Given the description of an element on the screen output the (x, y) to click on. 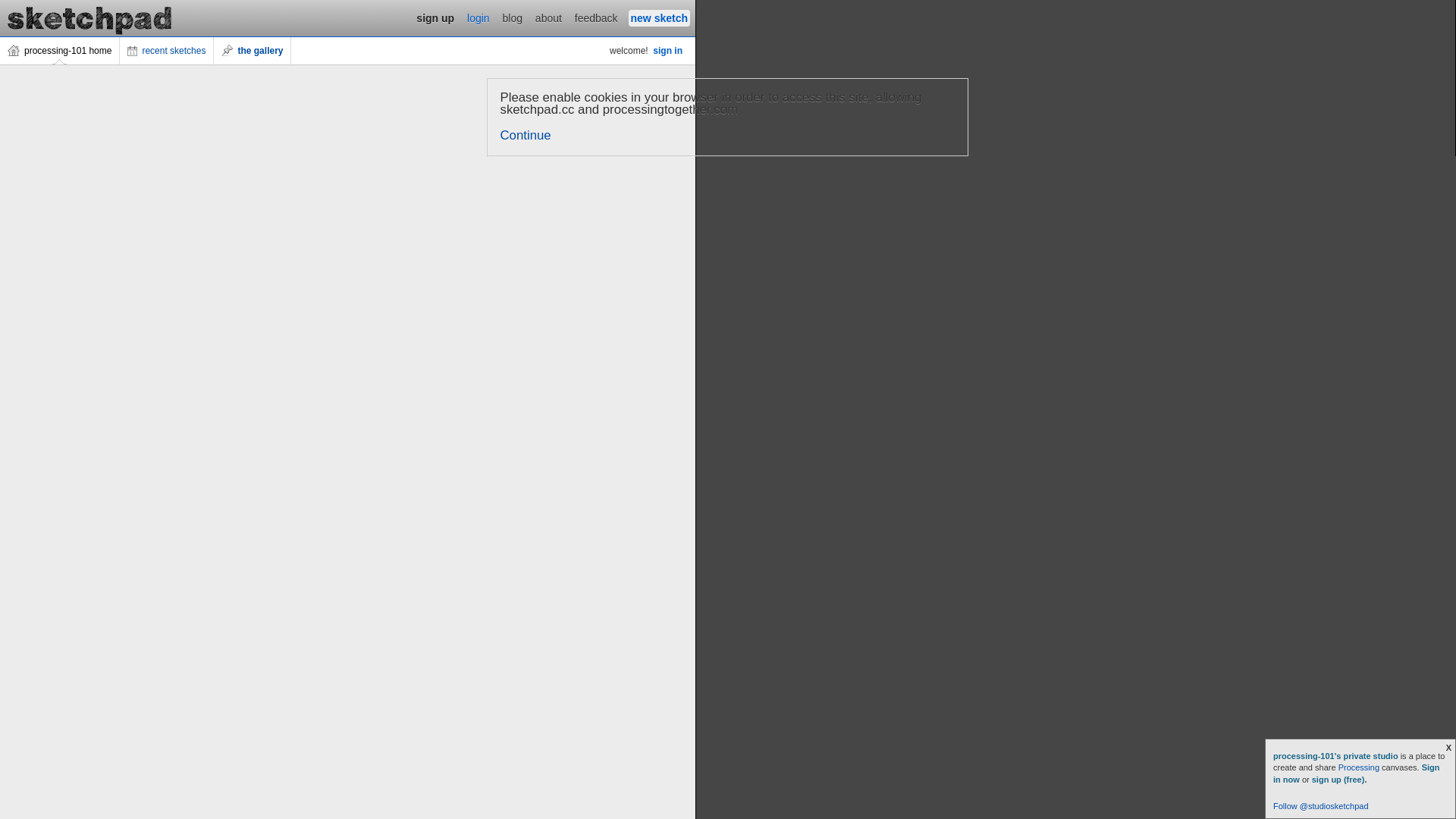
sign in Element type: text (667, 50)
Sign in now Element type: text (1356, 772)
about Element type: text (548, 17)
Processing Element type: text (1358, 766)
feedback Element type: text (596, 17)
Follow @studiosketchpad Element type: text (1320, 805)
recent sketches Element type: text (166, 50)
processing-101's private studio Element type: text (1336, 755)
Continue Element type: text (525, 135)
the gallery Element type: text (252, 50)
sign up (free) Element type: text (1338, 779)
processing-101 home Element type: text (59, 50)
login Element type: text (478, 17)
new sketch Element type: text (659, 17)
blog Element type: text (512, 17)
Studio Sketchpad is Processing on Etherpad Element type: hover (90, 18)
sign up Element type: text (435, 17)
